Given the description of an element on the screen output the (x, y) to click on. 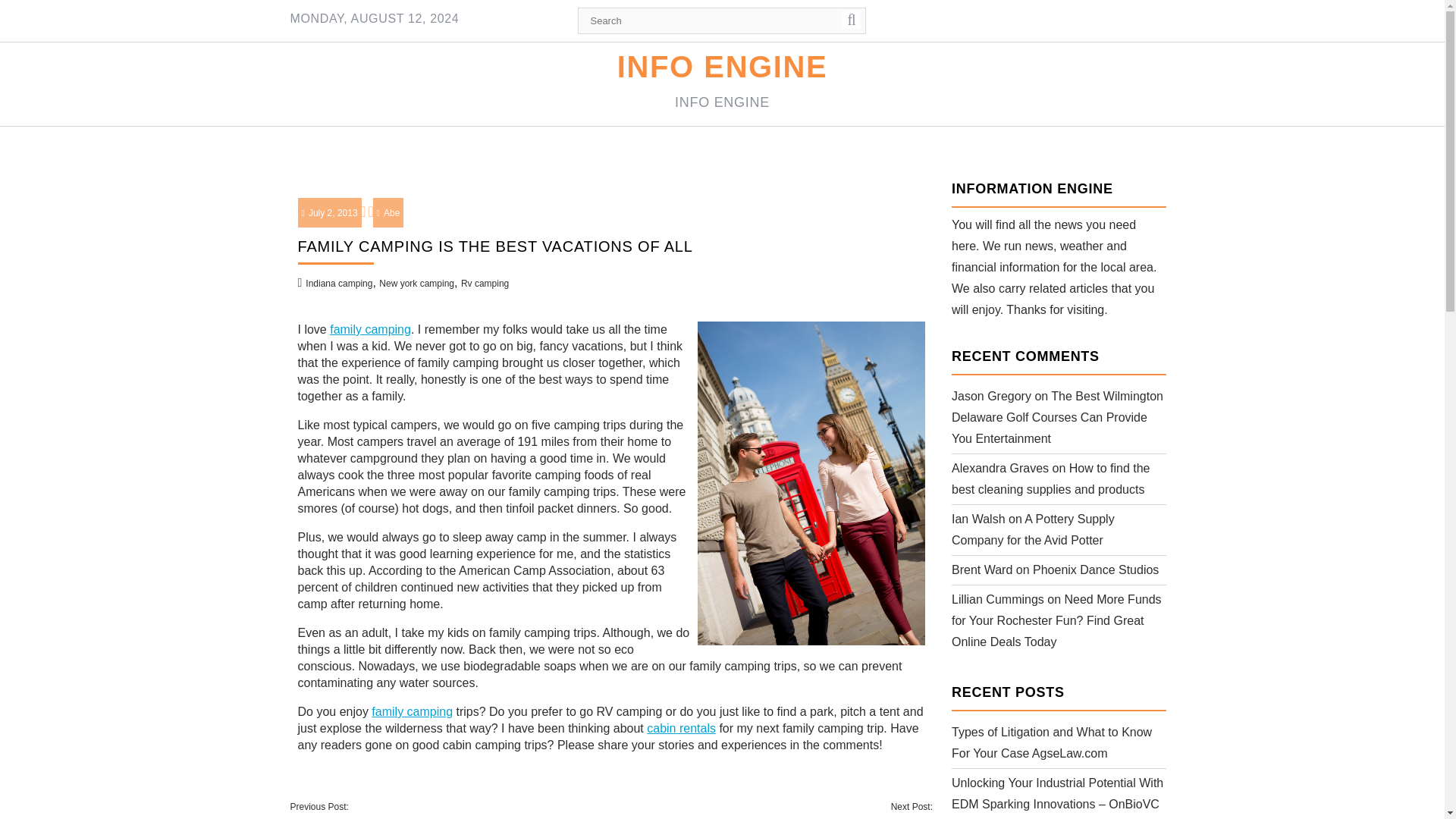
Indiana camping (338, 283)
cabin rentals (681, 727)
Find more information on Kid friendly vacations (681, 727)
Rv camping (484, 283)
Ian Walsh (979, 518)
Cabins in missouri, Camping in texas (411, 711)
Lillian Cummings (997, 599)
family camping (411, 711)
How to find the best cleaning supplies and products (1051, 478)
